Given the description of an element on the screen output the (x, y) to click on. 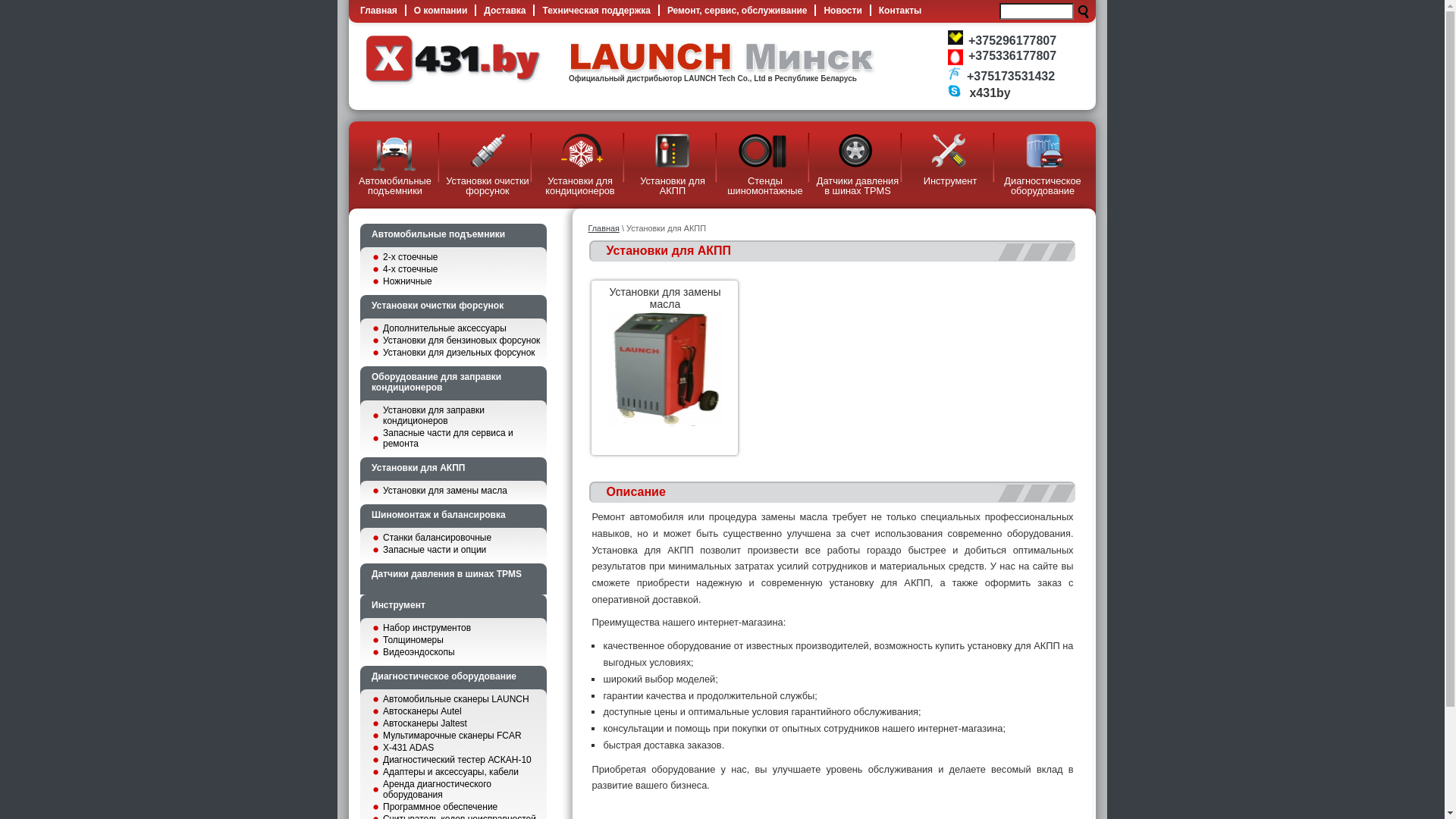
+375296177807 Element type: text (1012, 40)
          Element type: text (1082, 11)
X-431 ADAS Element type: text (458, 747)
+375173531432 Element type: text (1010, 75)
+375336177807 Element type: text (1012, 55)
x431 Element type: hover (453, 82)
